Given the description of an element on the screen output the (x, y) to click on. 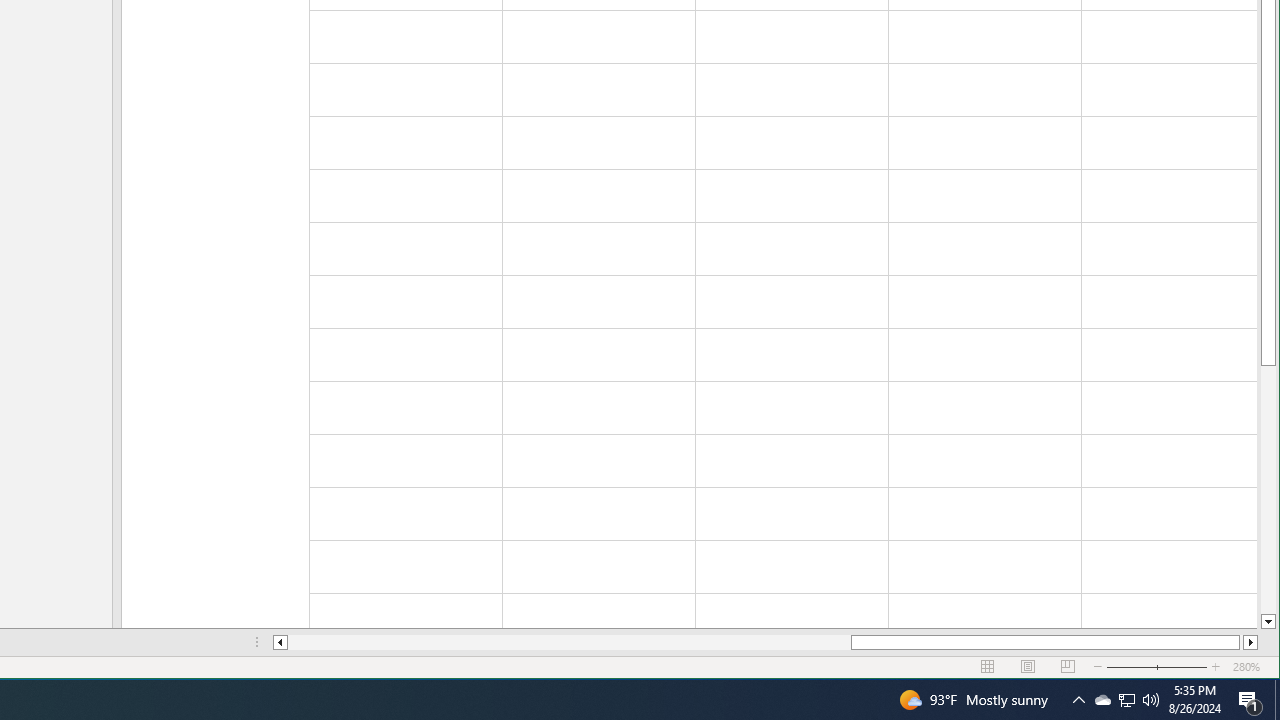
User Promoted Notification Area (1126, 699)
Notification Chevron (1078, 699)
Page left (569, 642)
